Given the description of an element on the screen output the (x, y) to click on. 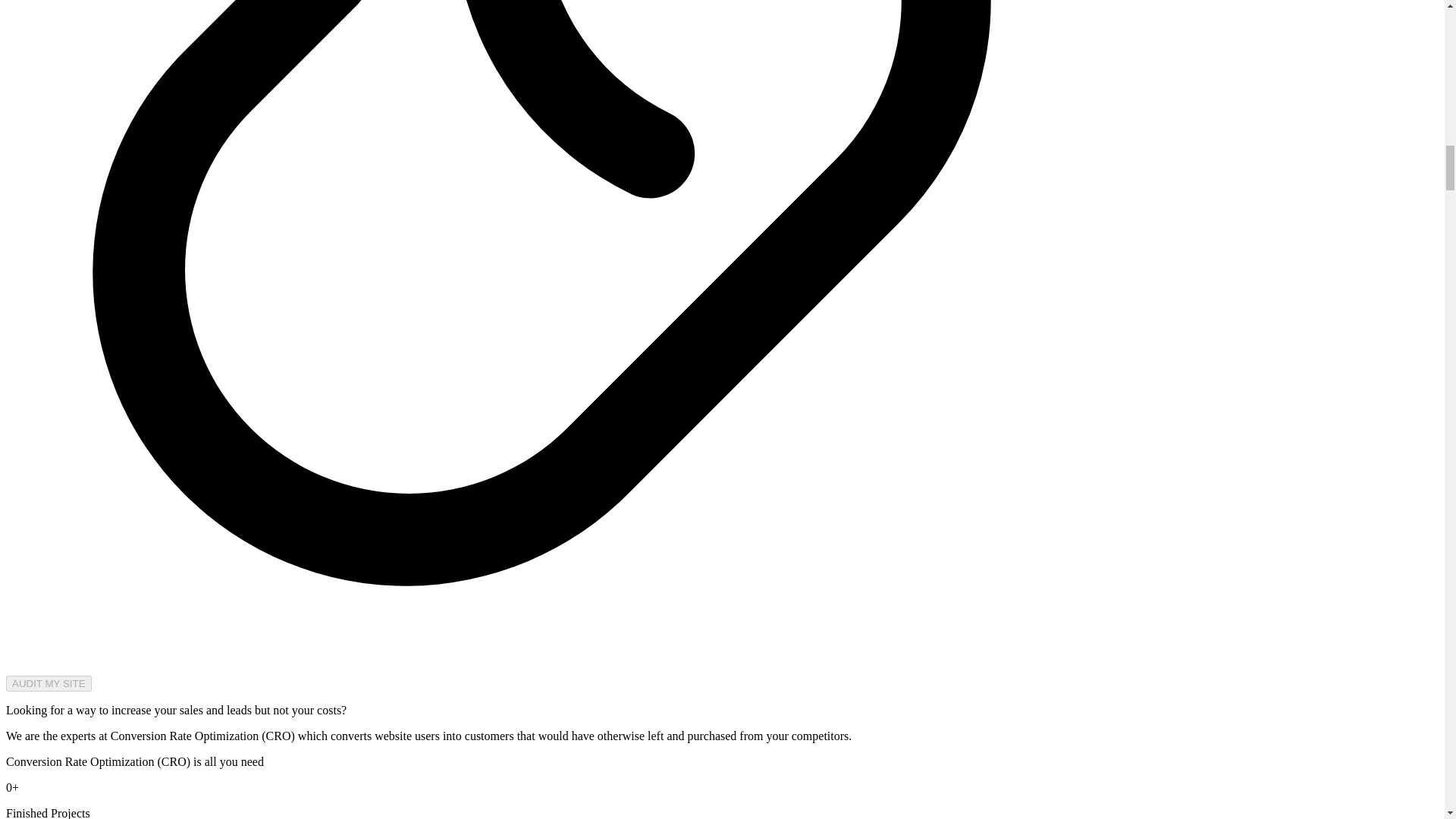
AUDIT MY SITE (48, 683)
